Given the description of an element on the screen output the (x, y) to click on. 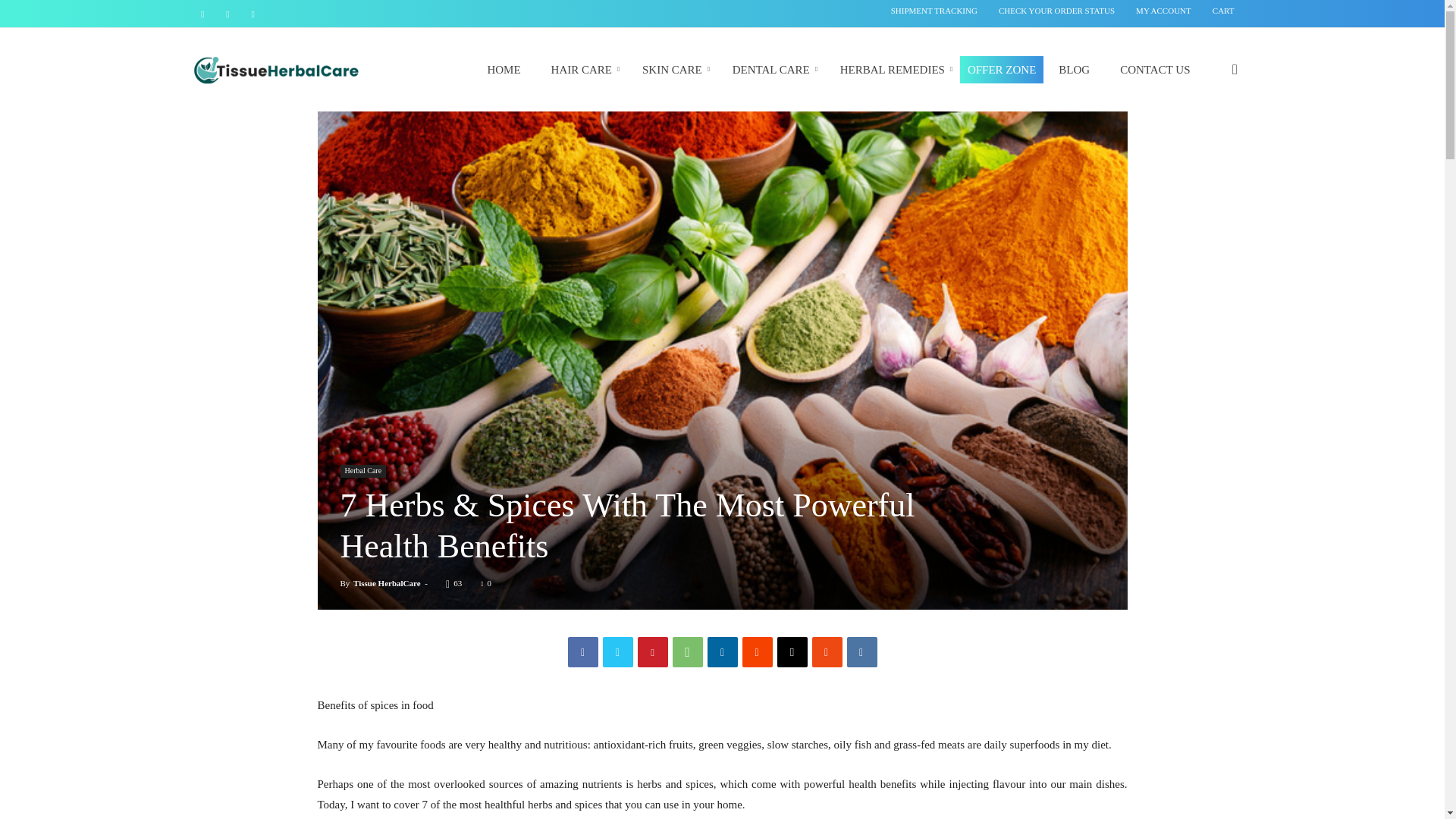
SHIPMENT TRACKING (933, 10)
Facebook (581, 652)
Twitter (616, 652)
MY ACCOUNT (1163, 10)
HAIR CARE (581, 69)
Branded Herbal Products at affordable price (275, 70)
TissueHerbalCare (275, 69)
Search (1210, 153)
CART (1223, 10)
Pinterest (651, 652)
CHECK YOUR ORDER STATUS (1056, 10)
WhatsApp (686, 652)
